Given the description of an element on the screen output the (x, y) to click on. 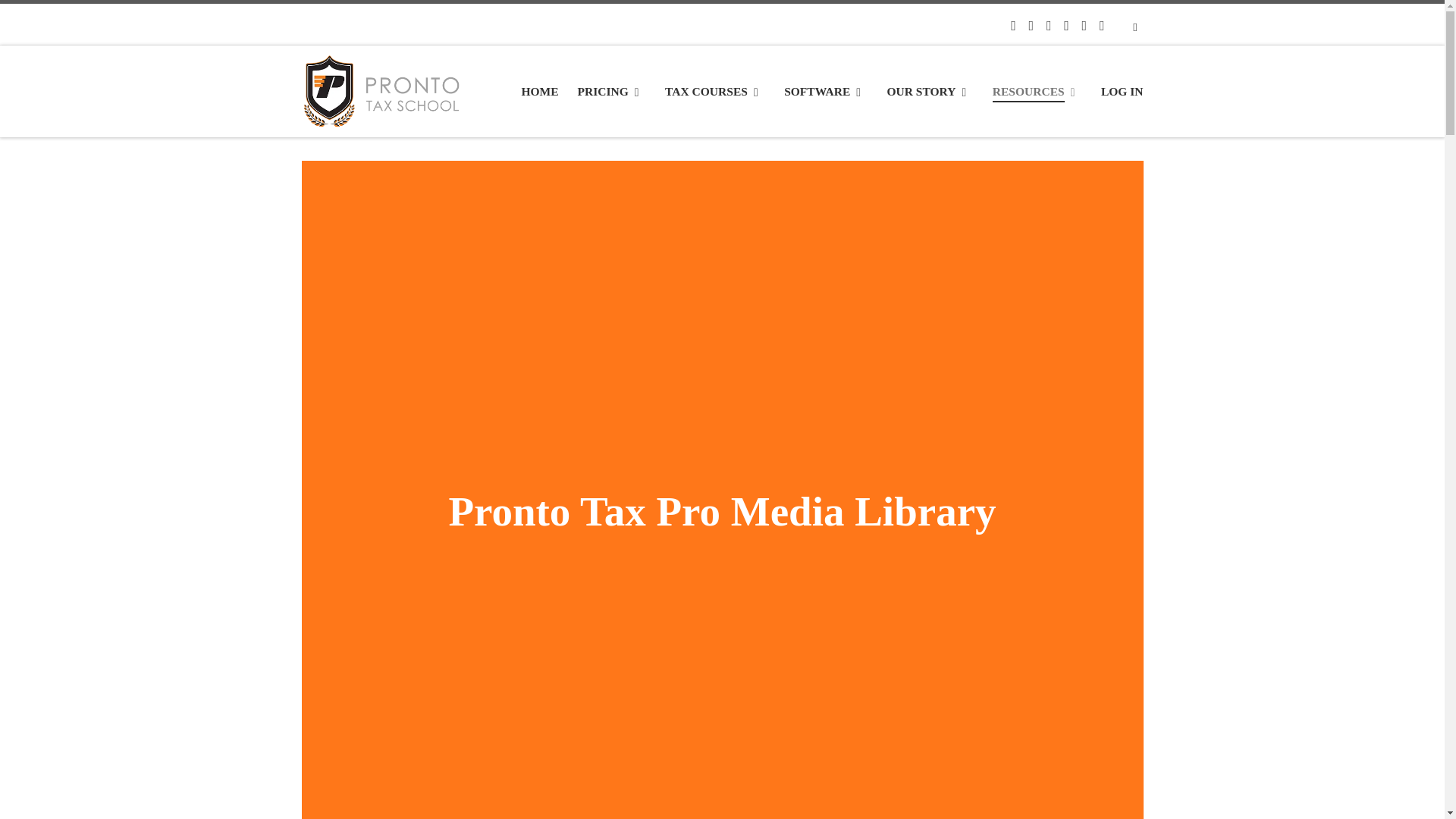
Skip to content (57, 20)
Search (1135, 26)
RESOURCES (1037, 91)
HOME (539, 91)
PRICING (611, 91)
OUR STORY (930, 91)
SOFTWARE (825, 91)
TAX COURSES (715, 91)
